Given the description of an element on the screen output the (x, y) to click on. 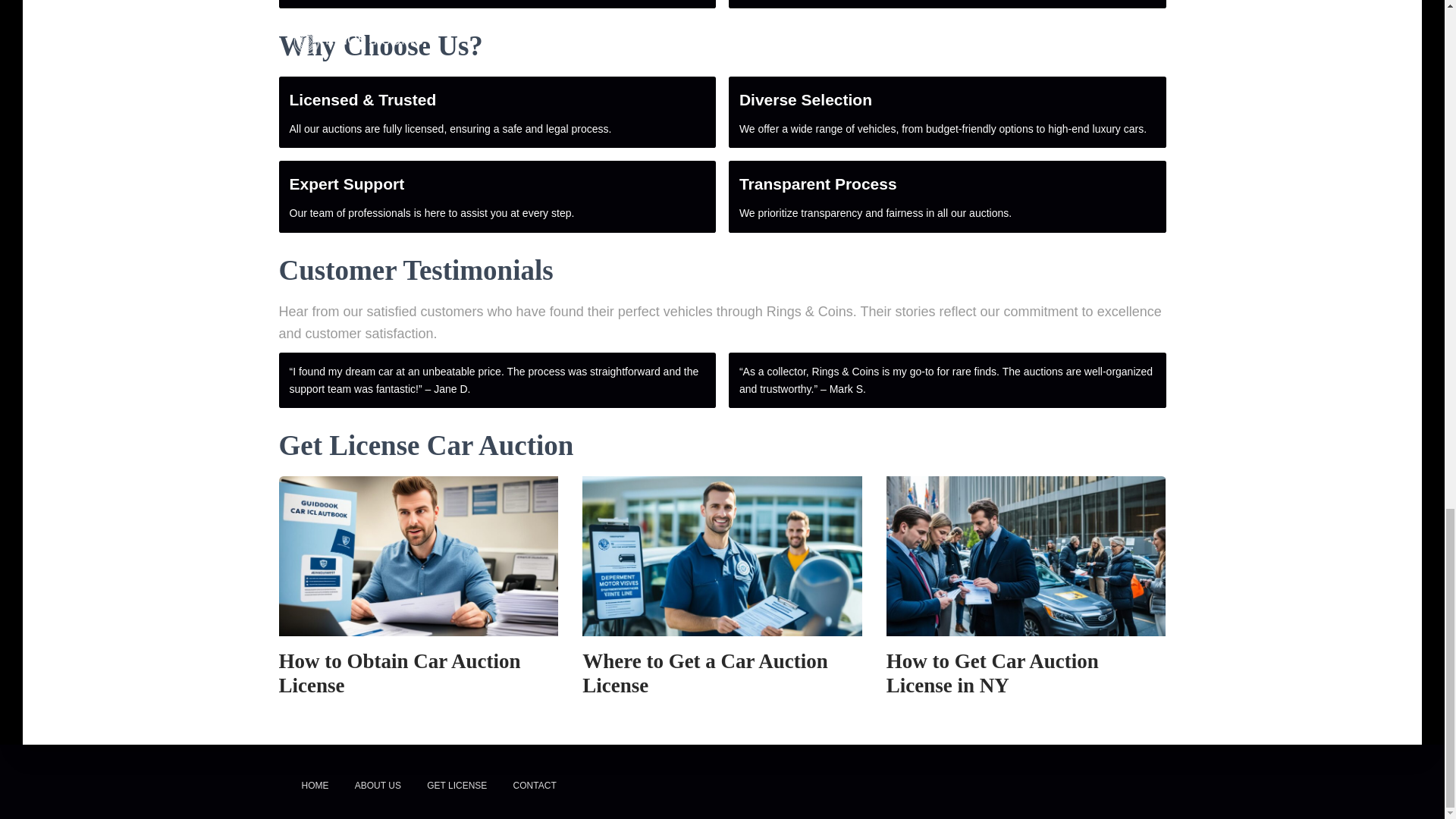
How to Get Car Auction License in NY (992, 673)
ABOUT US (377, 785)
CONTACT (534, 785)
How to Obtain Car Auction License (400, 673)
HOME (314, 785)
Where to Get a Car Auction License (705, 673)
GET LICENSE (455, 785)
